Given the description of an element on the screen output the (x, y) to click on. 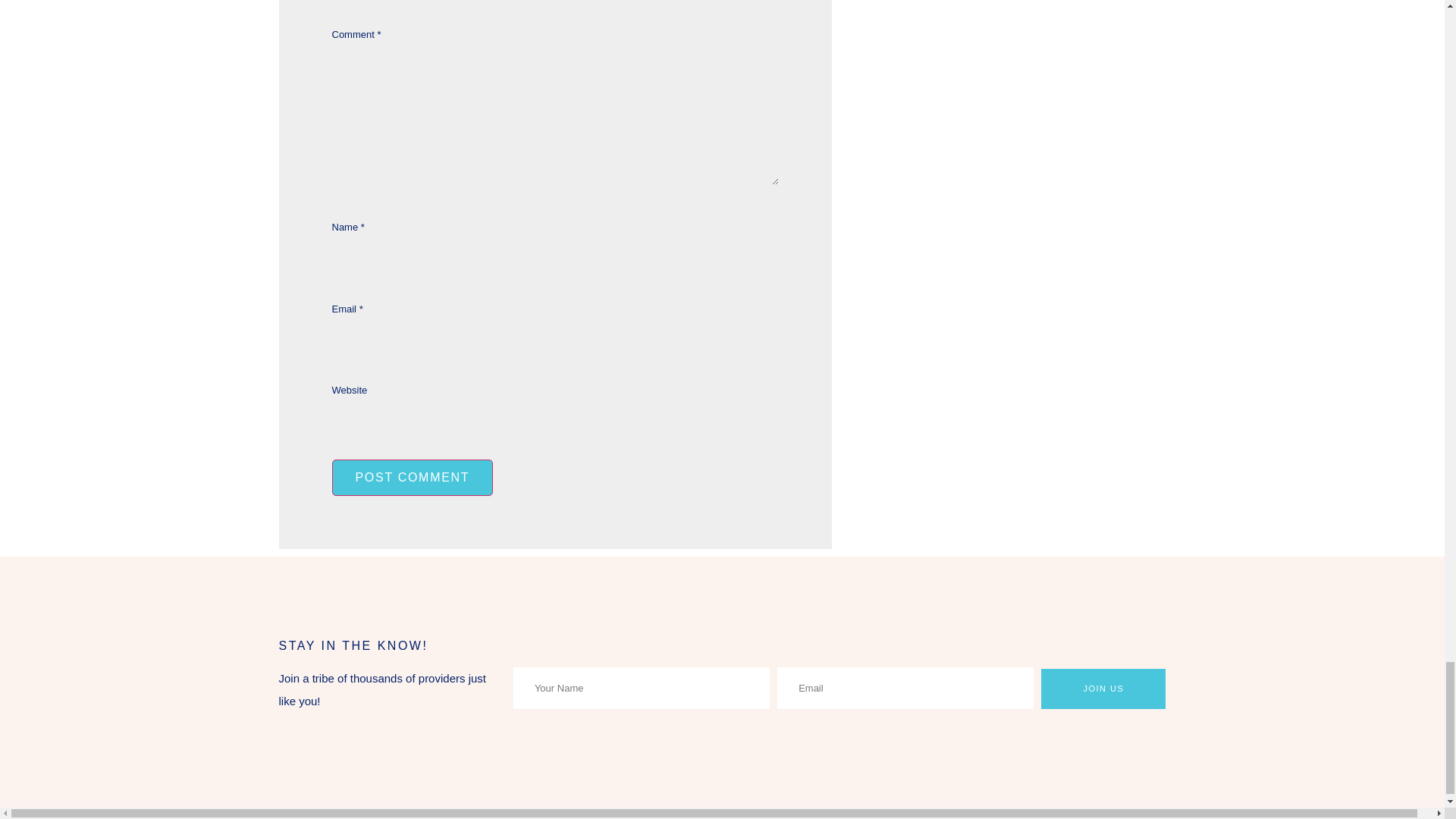
Post Comment (412, 477)
